Given the description of an element on the screen output the (x, y) to click on. 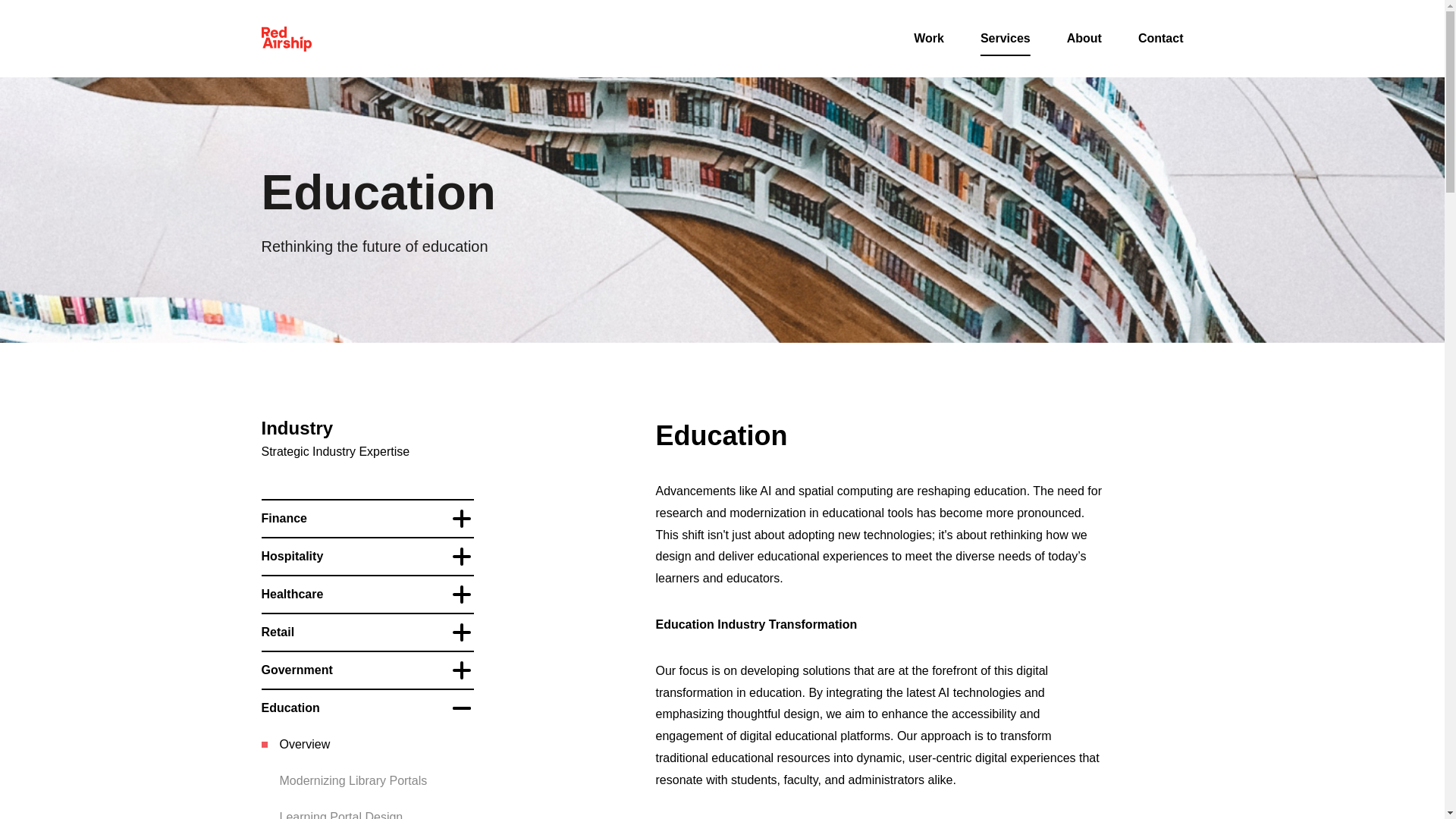
Contact (1160, 38)
Modernizing Library Portals (352, 781)
Learning Portal Design (341, 812)
Services (1004, 38)
Overview (304, 744)
